Given the description of an element on the screen output the (x, y) to click on. 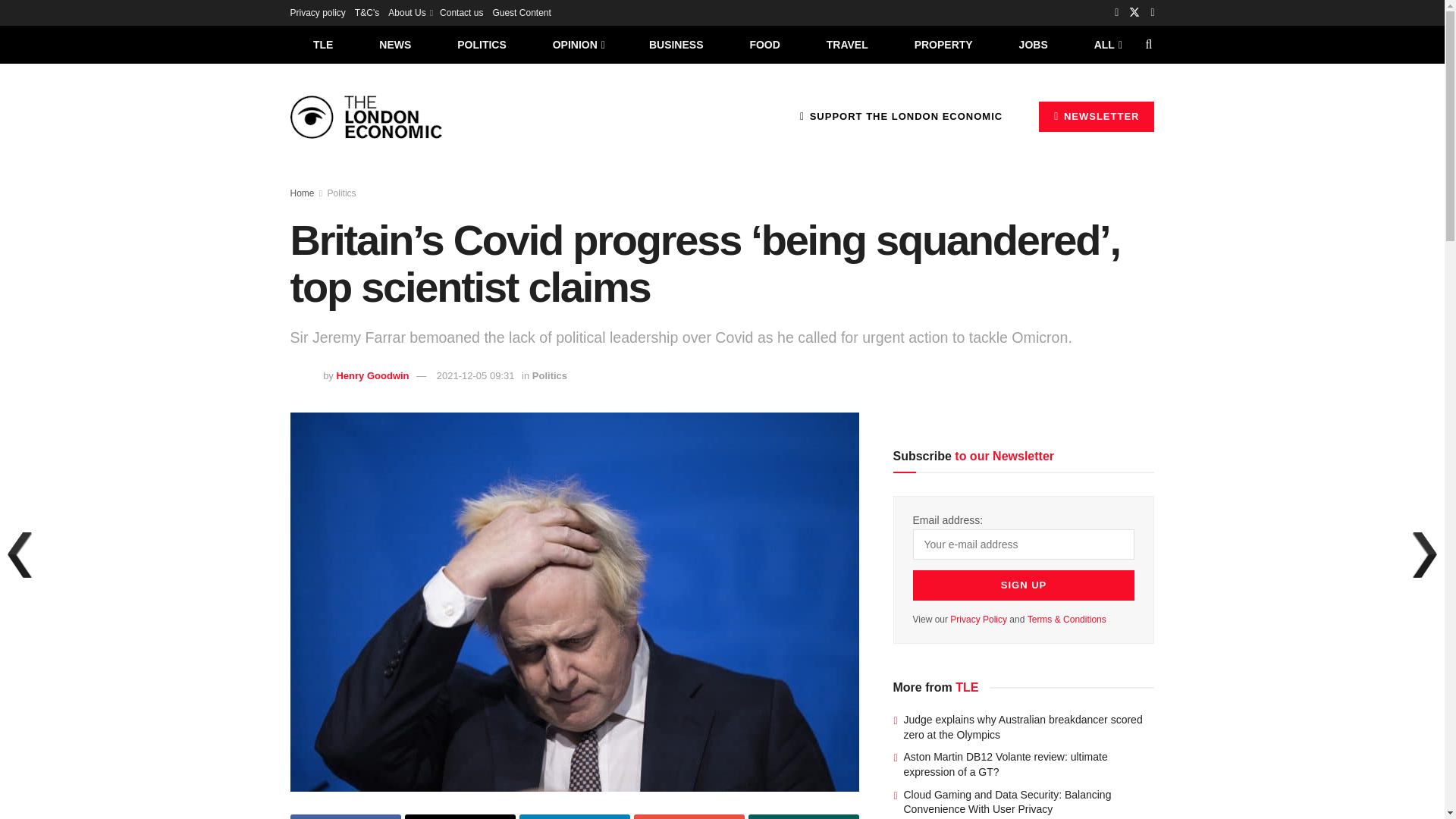
ALL (1106, 44)
JOBS (1032, 44)
OPINION (577, 44)
POLITICS (481, 44)
FOOD (764, 44)
TRAVEL (847, 44)
Guest Content (521, 12)
TLE (322, 44)
Contact us (461, 12)
BUSINESS (676, 44)
